Given the description of an element on the screen output the (x, y) to click on. 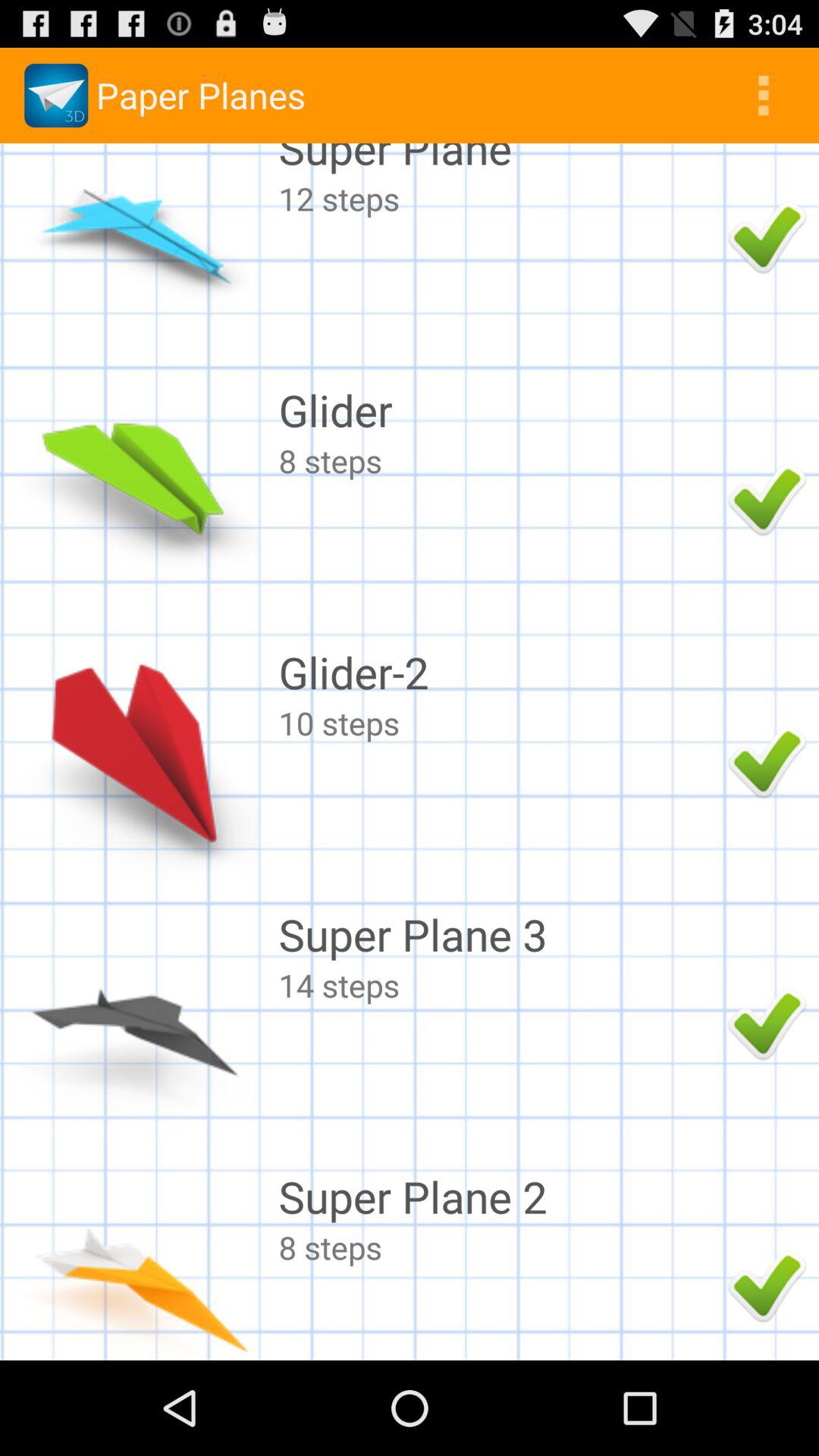
flip to 12 steps item (498, 198)
